Given the description of an element on the screen output the (x, y) to click on. 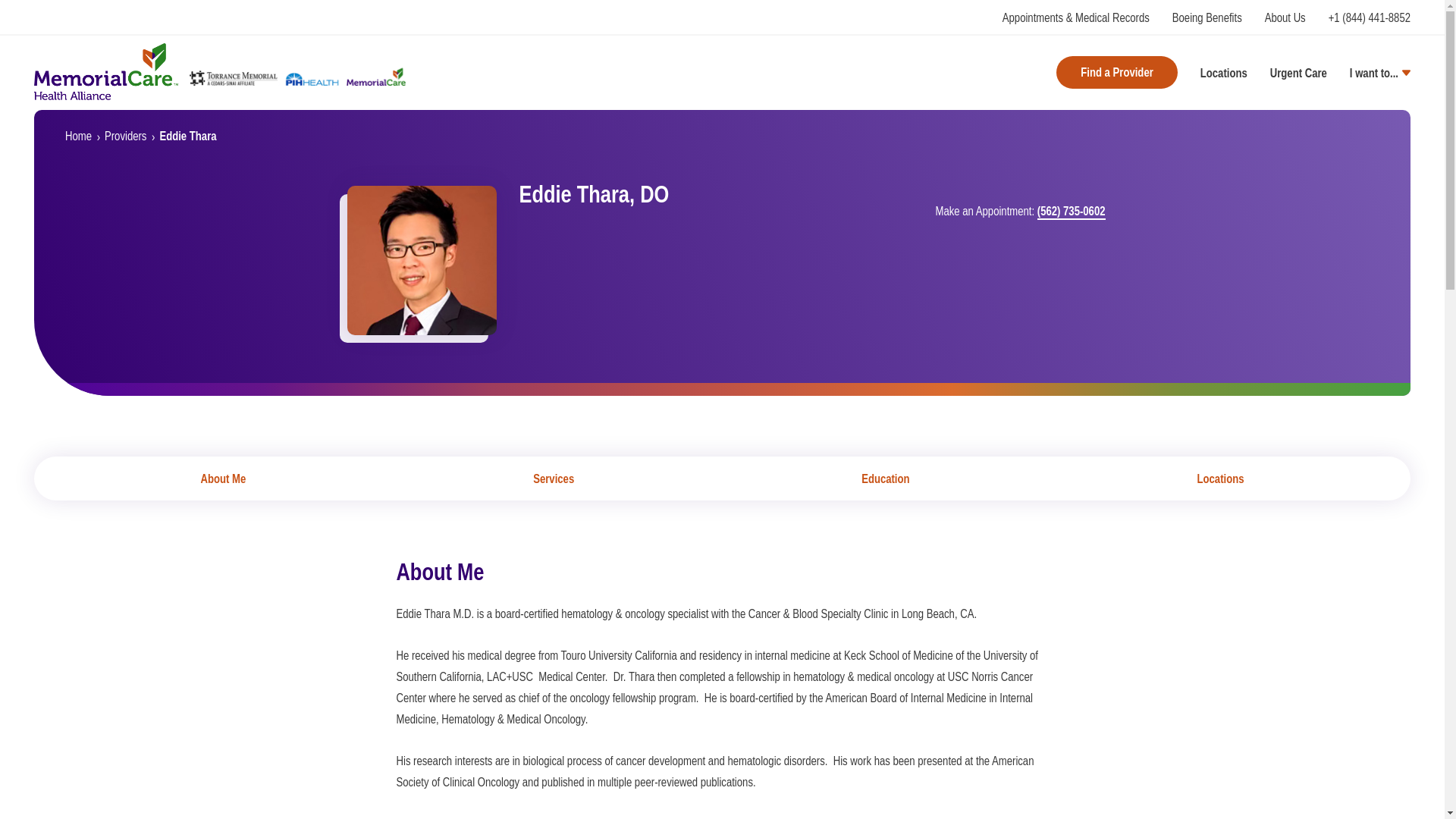
Boeing Benefits (1206, 16)
About Us (1285, 16)
Find a Provider (1117, 72)
Urgent Care (1297, 72)
I want to... (1379, 72)
Locations (1223, 72)
Home (78, 135)
Providers (125, 135)
